Given the description of an element on the screen output the (x, y) to click on. 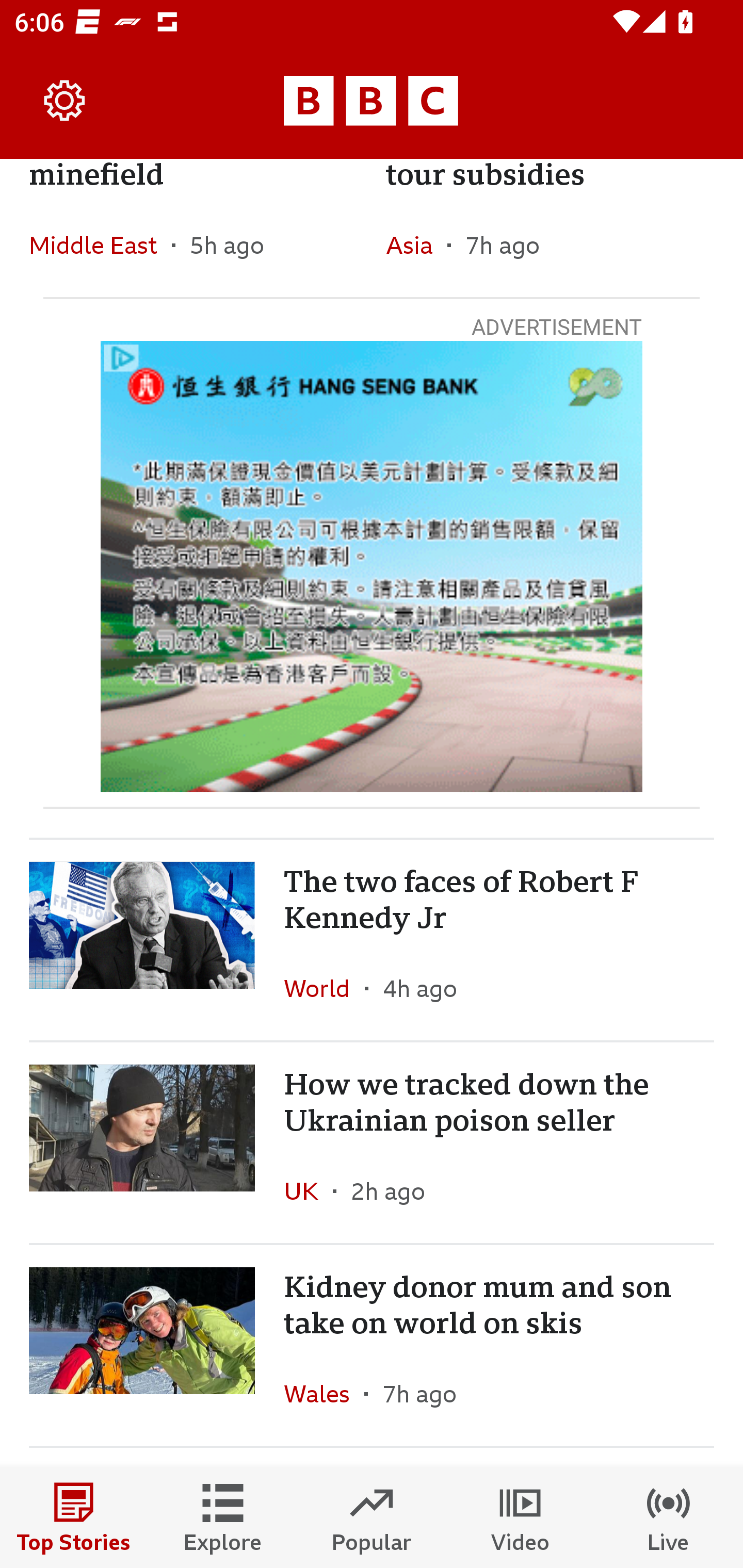
Settings (64, 100)
Middle East In the section Middle East (99, 244)
Asia In the section Asia (416, 244)
Advertisement (371, 566)
World In the section World (323, 987)
UK In the section UK (307, 1190)
Wales In the section Wales (323, 1393)
Explore (222, 1517)
Popular (371, 1517)
Video (519, 1517)
Live (668, 1517)
